Given the description of an element on the screen output the (x, y) to click on. 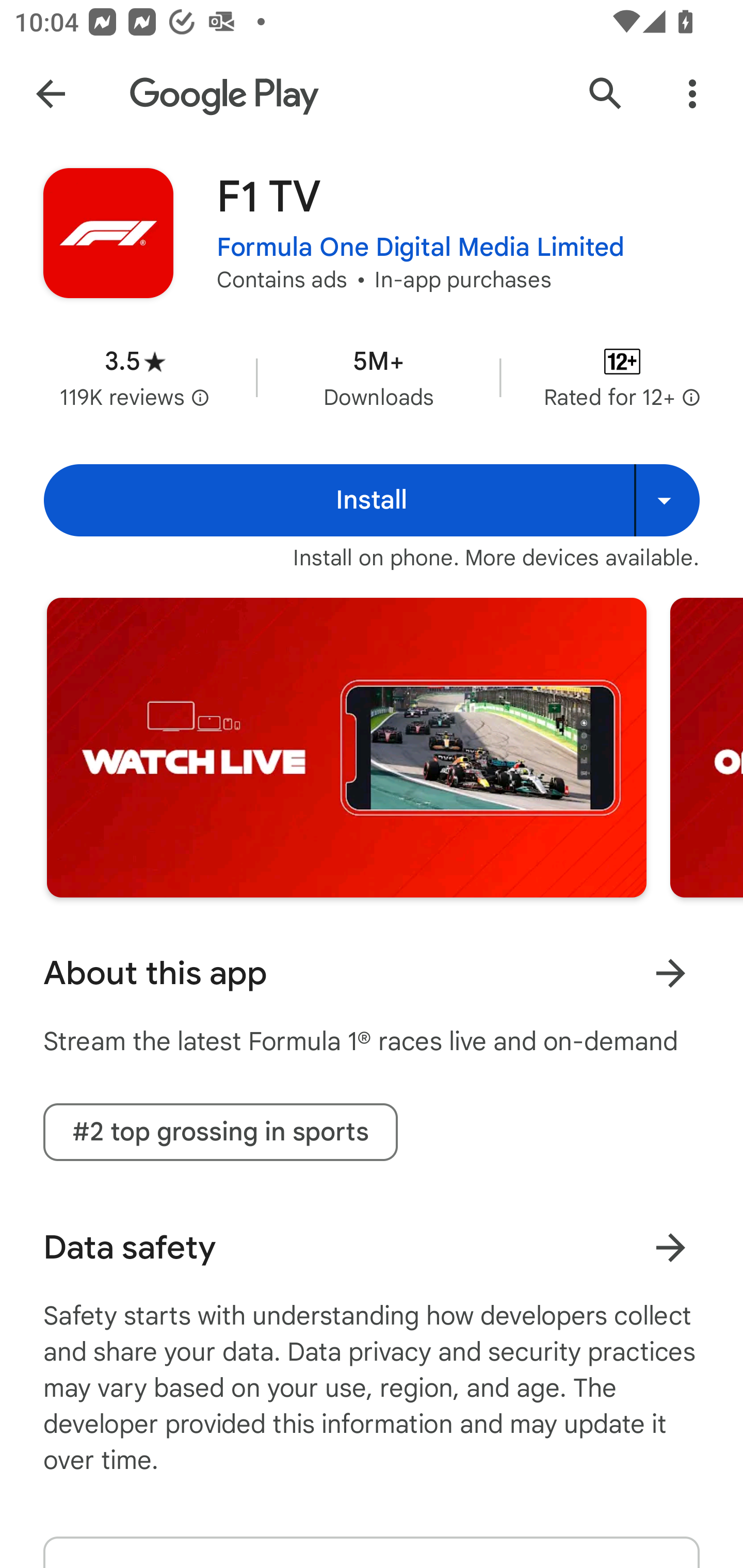
Navigate up (50, 93)
Search Google Play (605, 93)
More Options (692, 93)
Formula One Digital Media Limited (420, 247)
Average rating 3.5 stars in 119 thousand reviews (135, 377)
Content rating Rated for 12+ (622, 377)
Install Install Install on more devices (371, 500)
Install on more devices (667, 500)
Screenshot "1" of "5" (346, 746)
About this app Learn more About this app (371, 972)
Learn more About this app (670, 972)
#2 top grossing in sports tag (220, 1132)
Data safety Learn more about data safety (371, 1247)
Learn more about data safety (670, 1247)
